Given the description of an element on the screen output the (x, y) to click on. 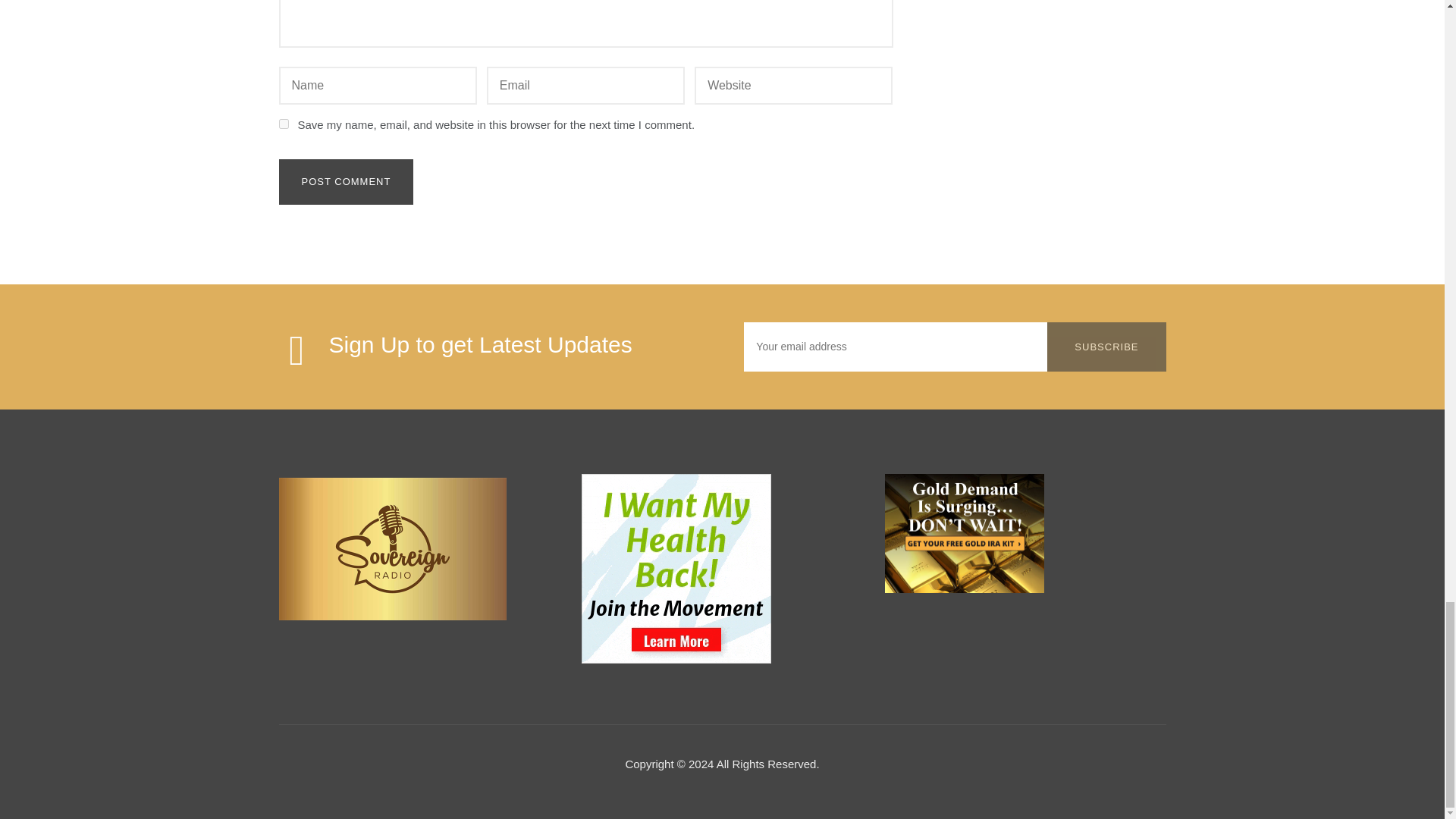
Post Comment (346, 181)
Post Comment (346, 181)
yes (283, 123)
